Given the description of an element on the screen output the (x, y) to click on. 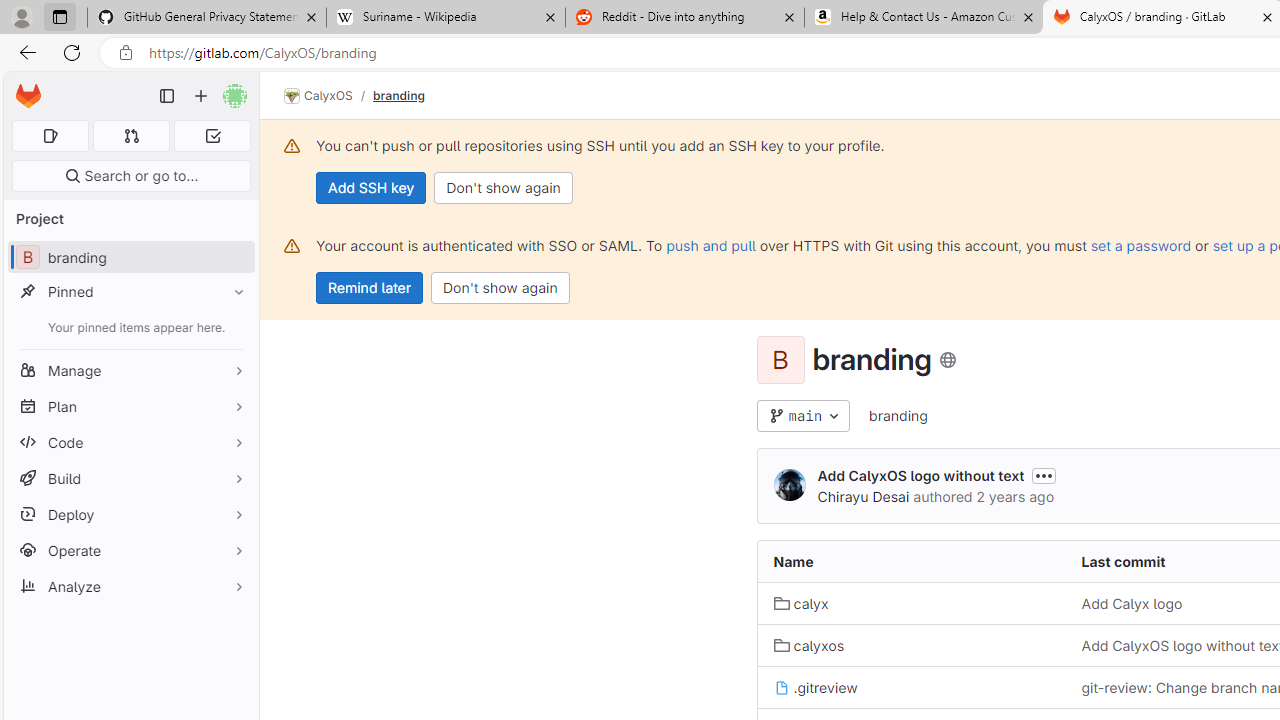
B branding (130, 257)
Add CalyxOS logo without text (920, 475)
